Given the description of an element on the screen output the (x, y) to click on. 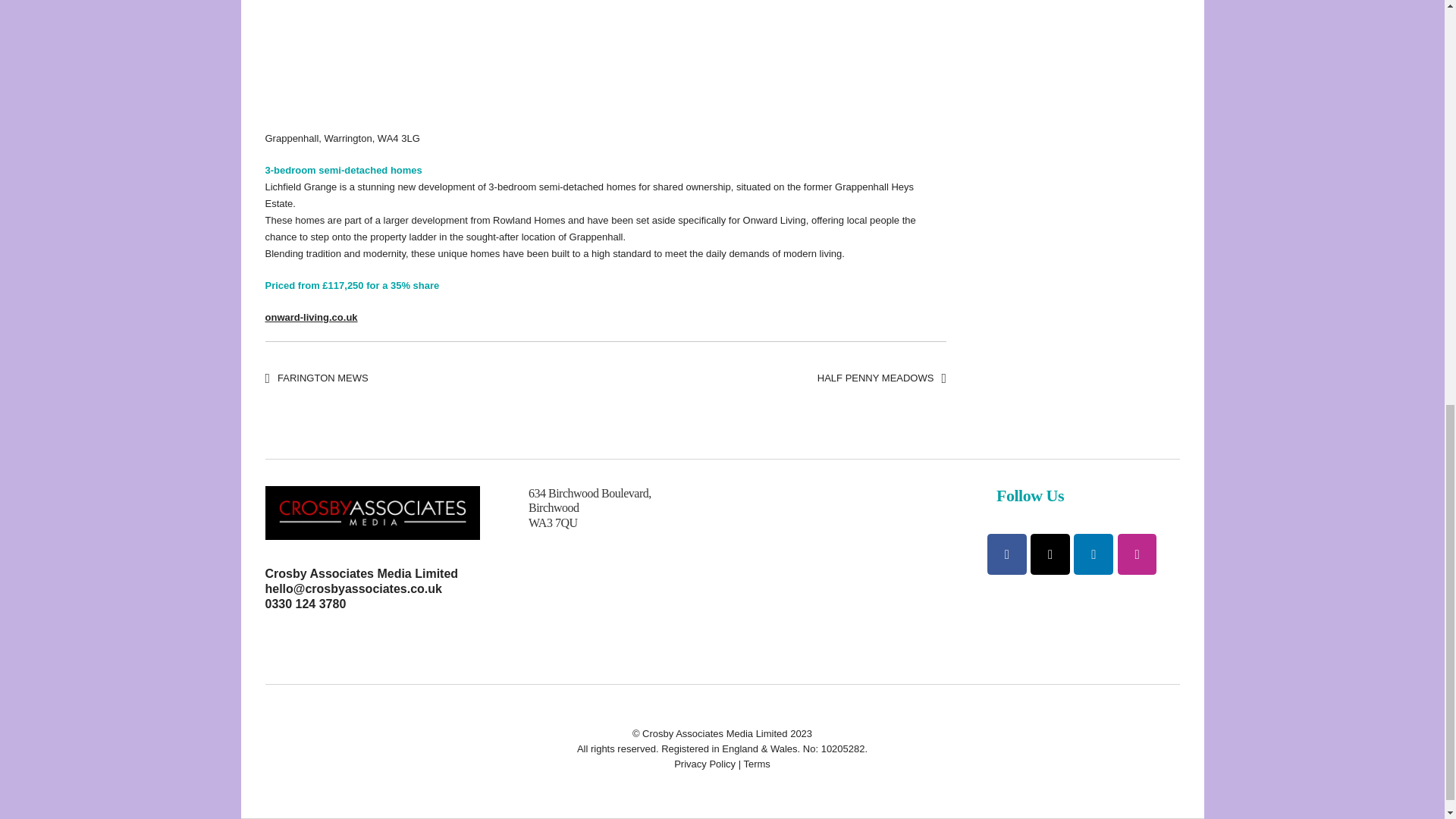
Crosby Associates Media Limited  (362, 573)
0330 124 3780 (305, 603)
Terms (756, 763)
 on Linkedin (1093, 553)
Privacy Policy (704, 763)
FARINGTON MEWS (316, 377)
onward-living.co.uk (311, 317)
 on Instagram (1137, 553)
 on Facebook (1006, 553)
HALF PENNY MEADOWS (881, 377)
